Given the description of an element on the screen output the (x, y) to click on. 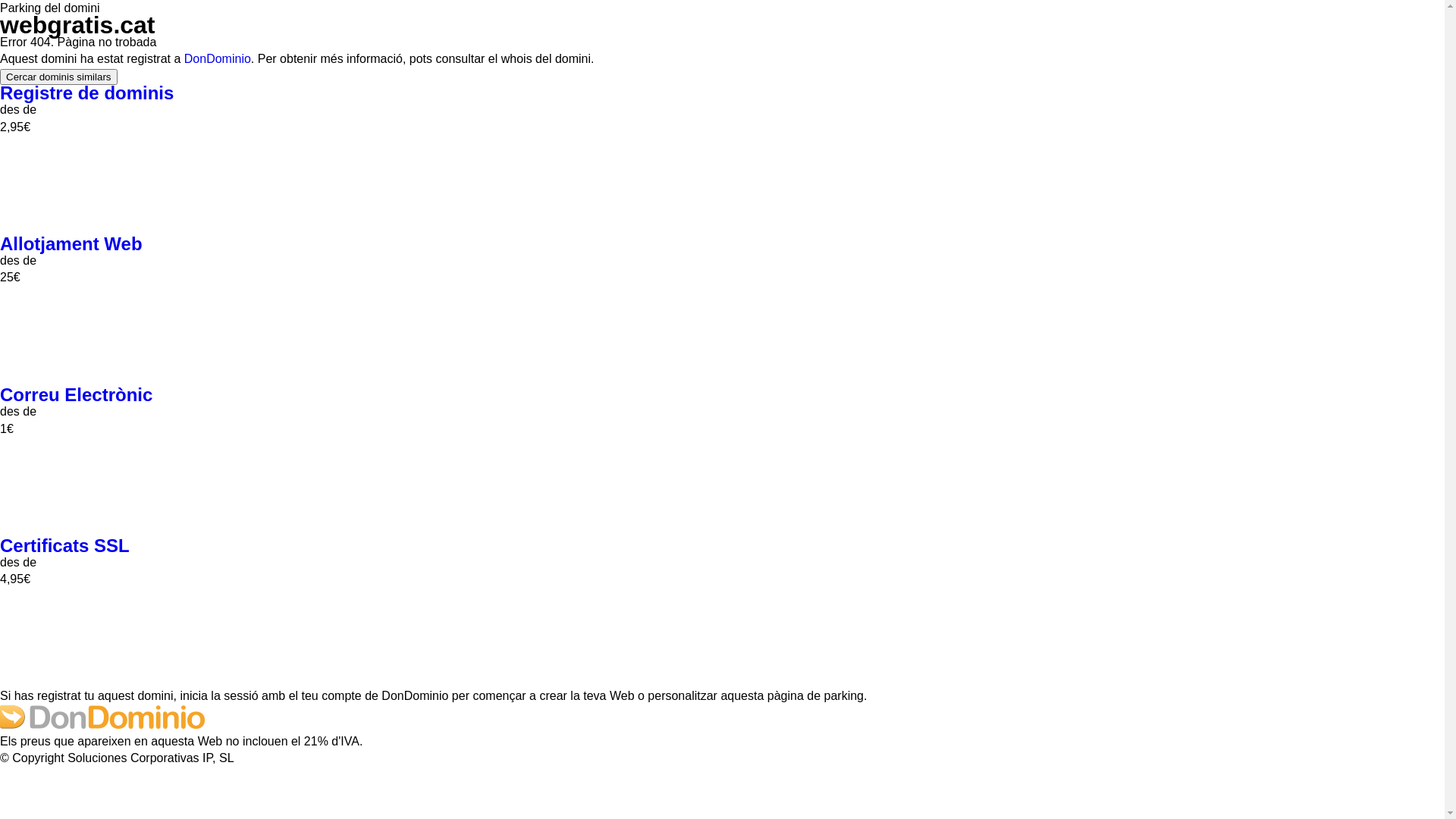
Registre de dominis Element type: text (86, 92)
DonDominio.com Element type: hover (102, 724)
Cercar dominis similars Element type: text (58, 76)
DonDominio Element type: text (217, 58)
Allotjament Web Element type: text (71, 243)
Certificats SSL Element type: text (64, 545)
